Given the description of an element on the screen output the (x, y) to click on. 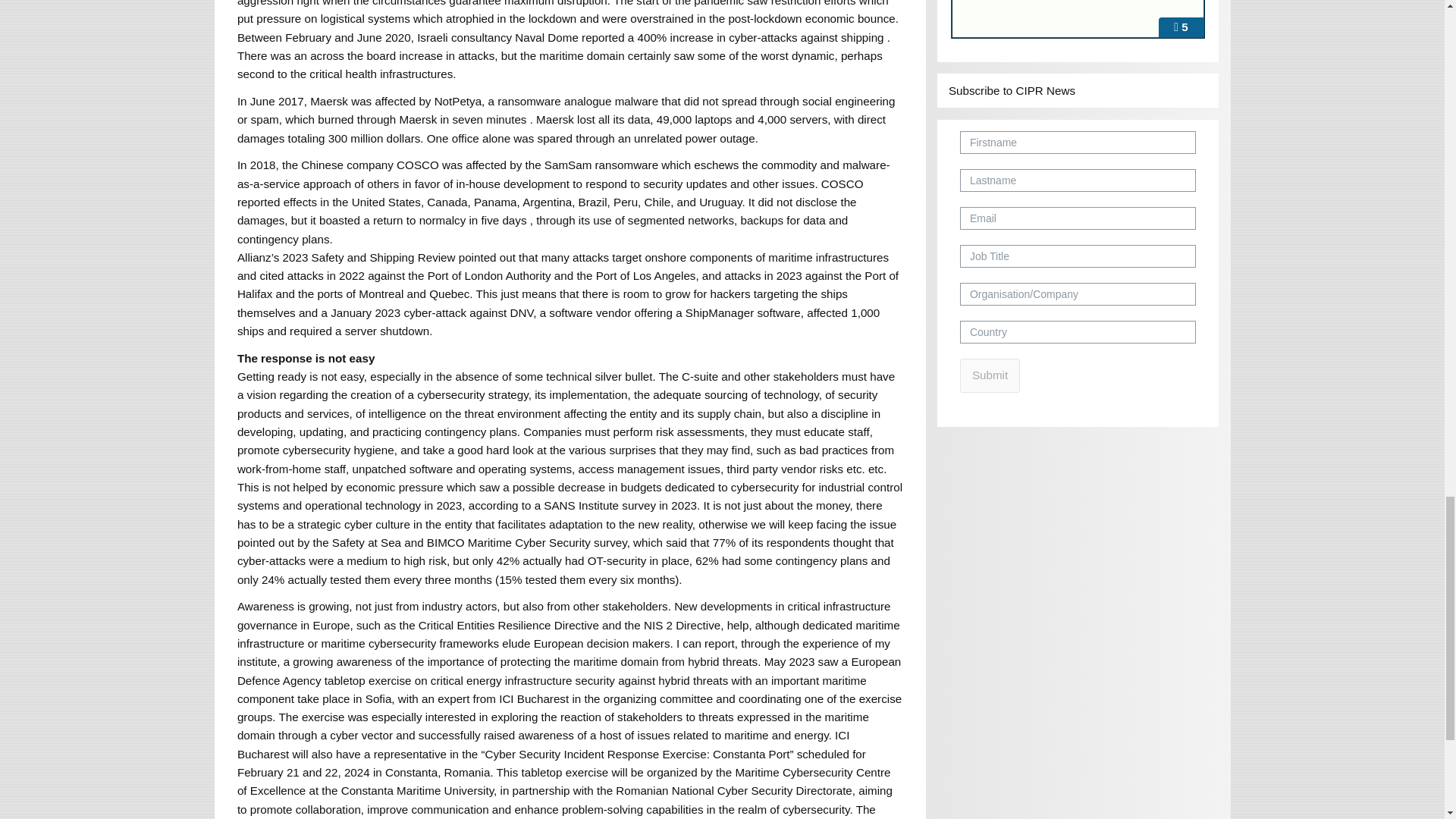
Submit (989, 375)
